Given the description of an element on the screen output the (x, y) to click on. 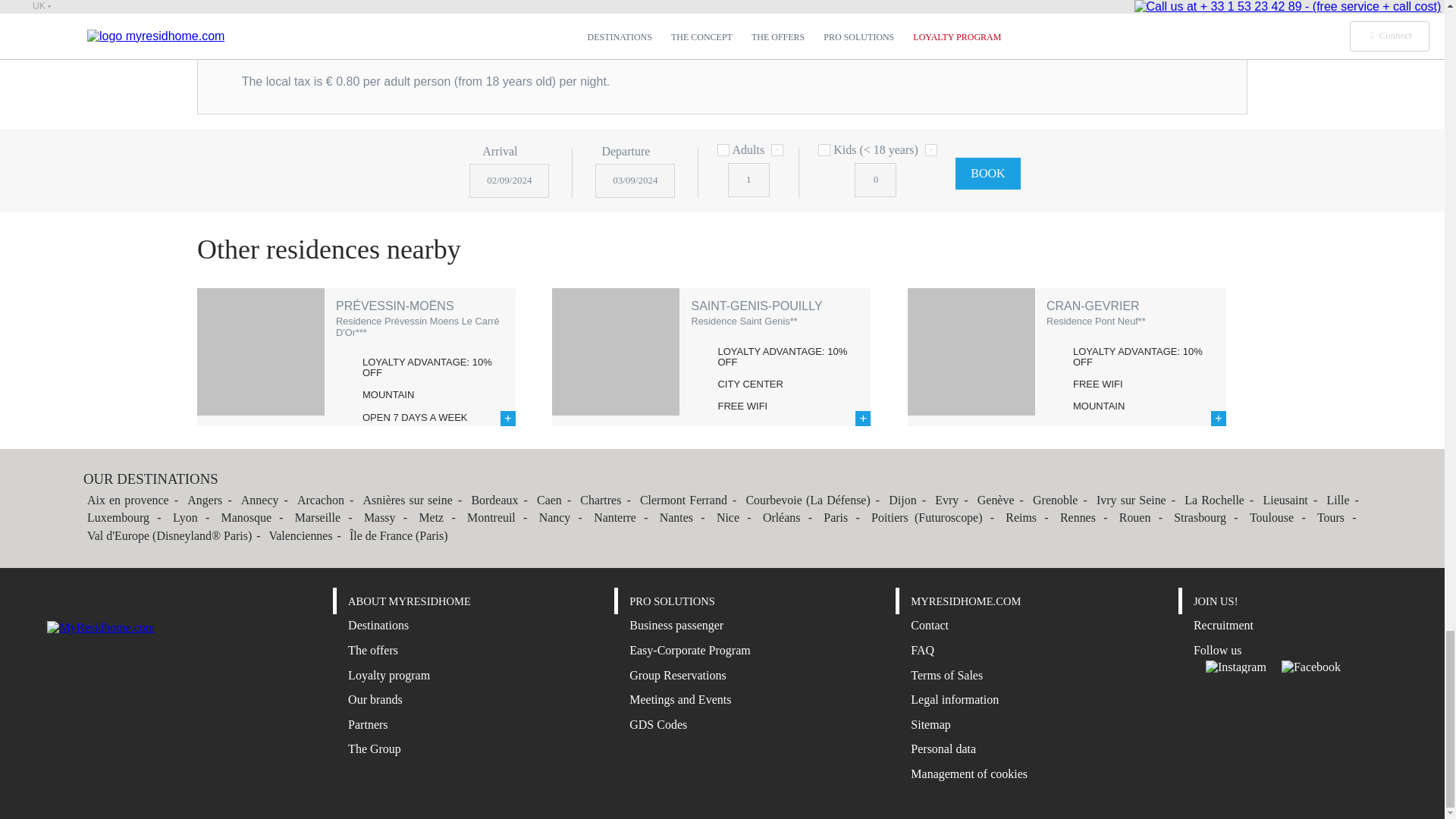
0 (875, 179)
Residence Saint Genis (615, 351)
Residence Pont Neuf (971, 351)
1 (749, 179)
